Given the description of an element on the screen output the (x, y) to click on. 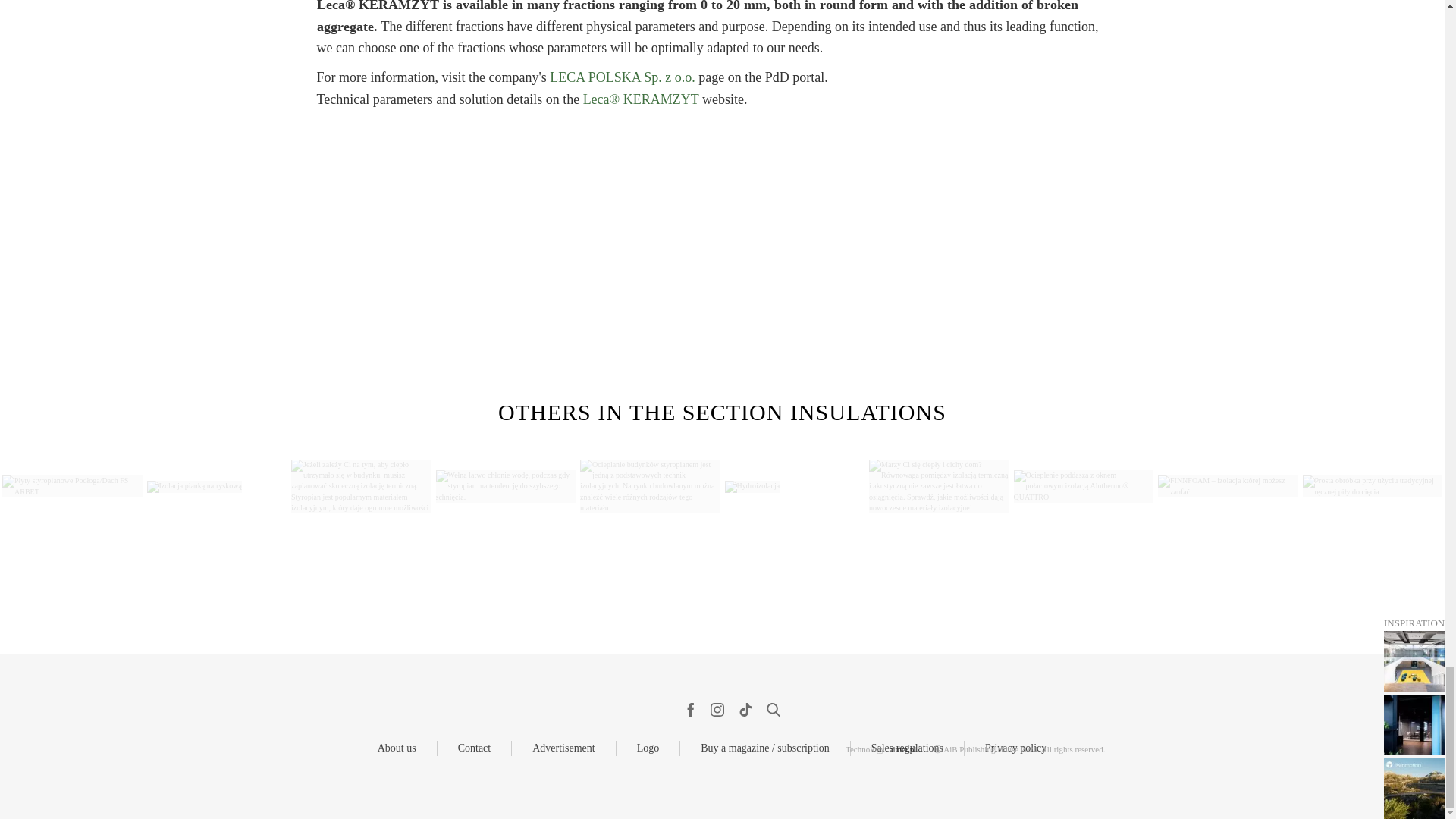
instagram (717, 709)
TikTok (745, 709)
facebook (689, 709)
wyszukiwarka (772, 709)
